Given the description of an element on the screen output the (x, y) to click on. 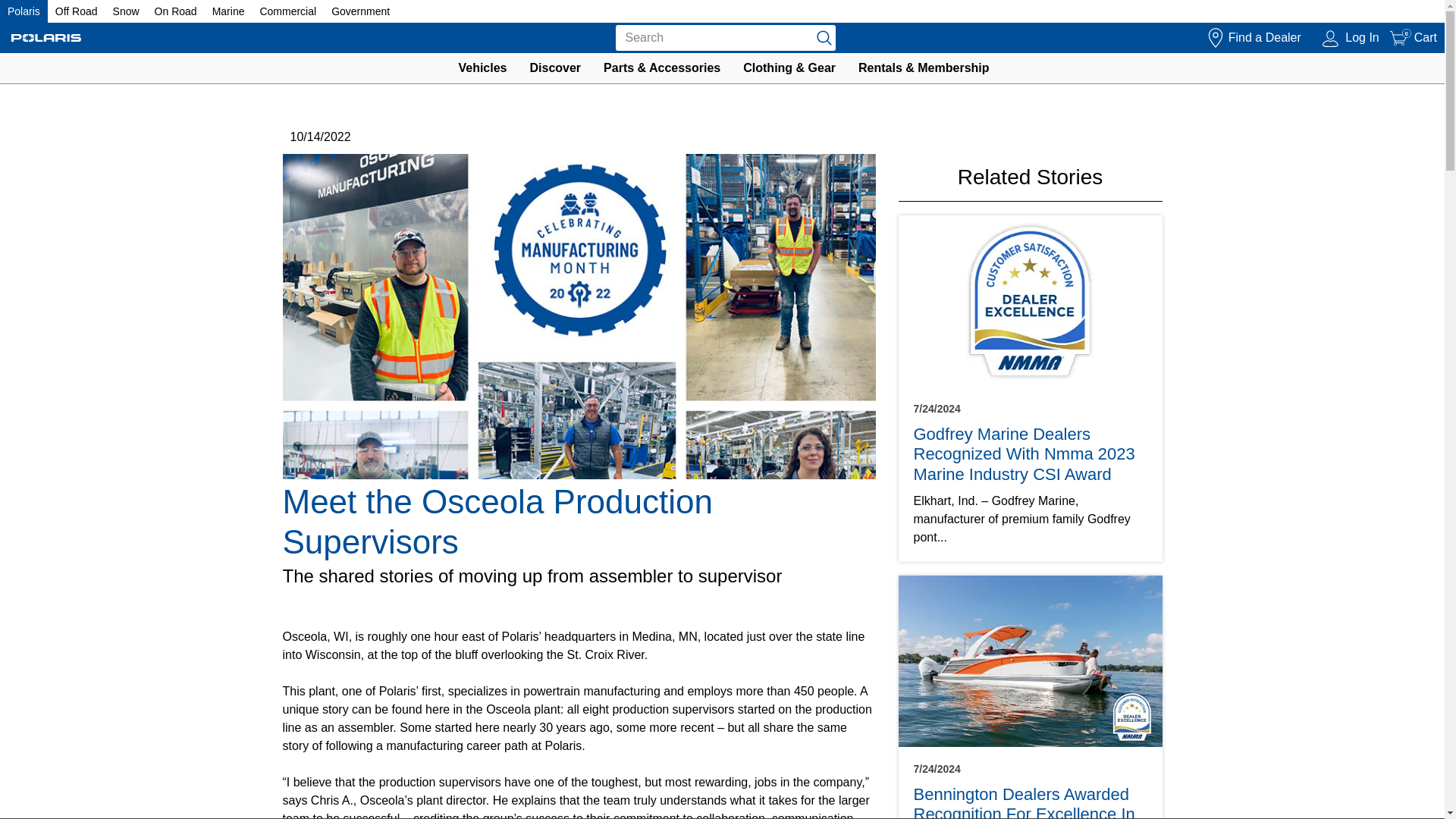
Polaris (23, 10)
Find a Dealer (1253, 37)
Commercial (287, 10)
Government (360, 10)
Snow (126, 10)
On Road (175, 10)
Log In (1350, 37)
Off Road (76, 10)
Marine (1413, 37)
